Given the description of an element on the screen output the (x, y) to click on. 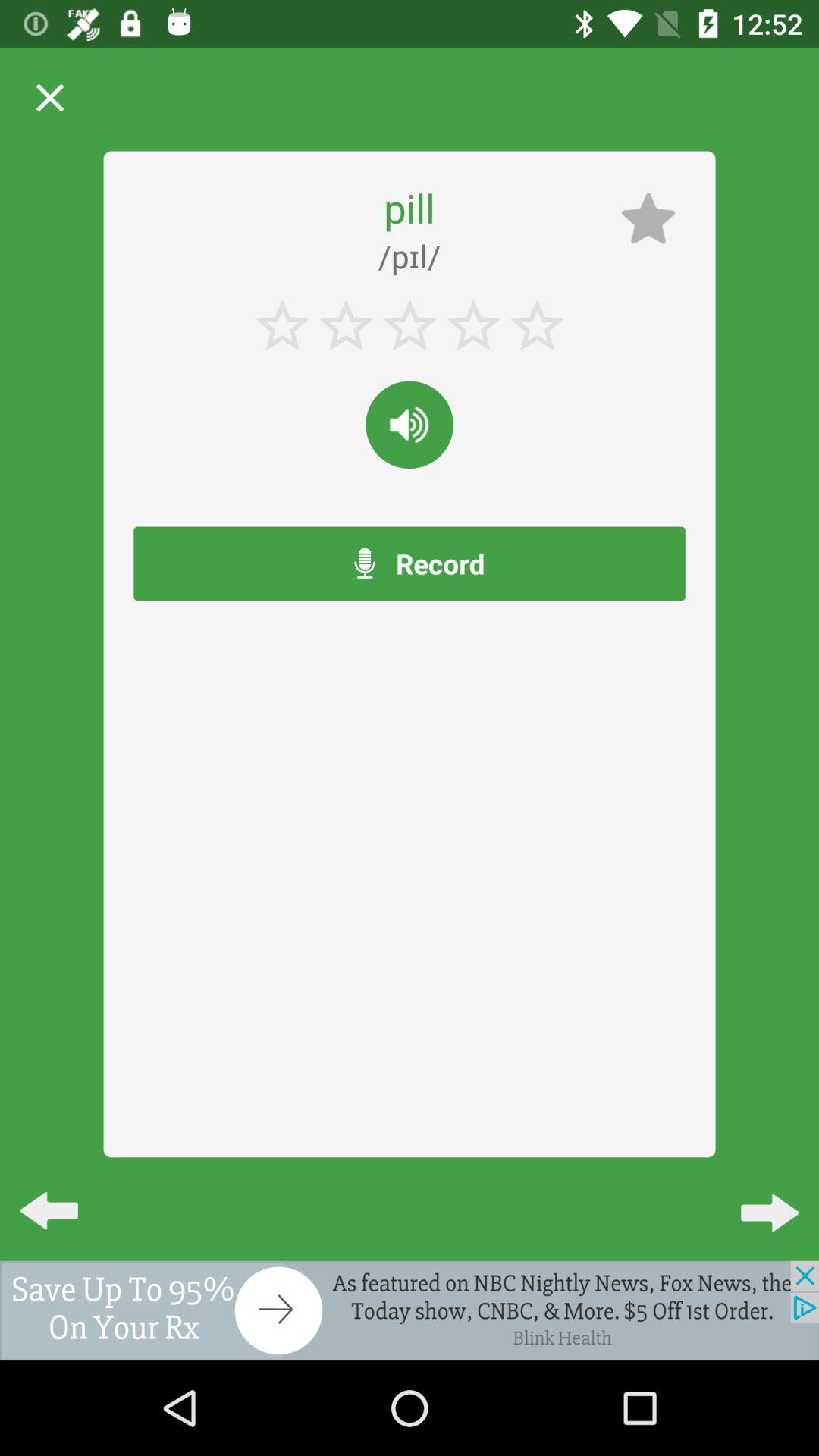
view advertisement in new app (409, 1310)
